Given the description of an element on the screen output the (x, y) to click on. 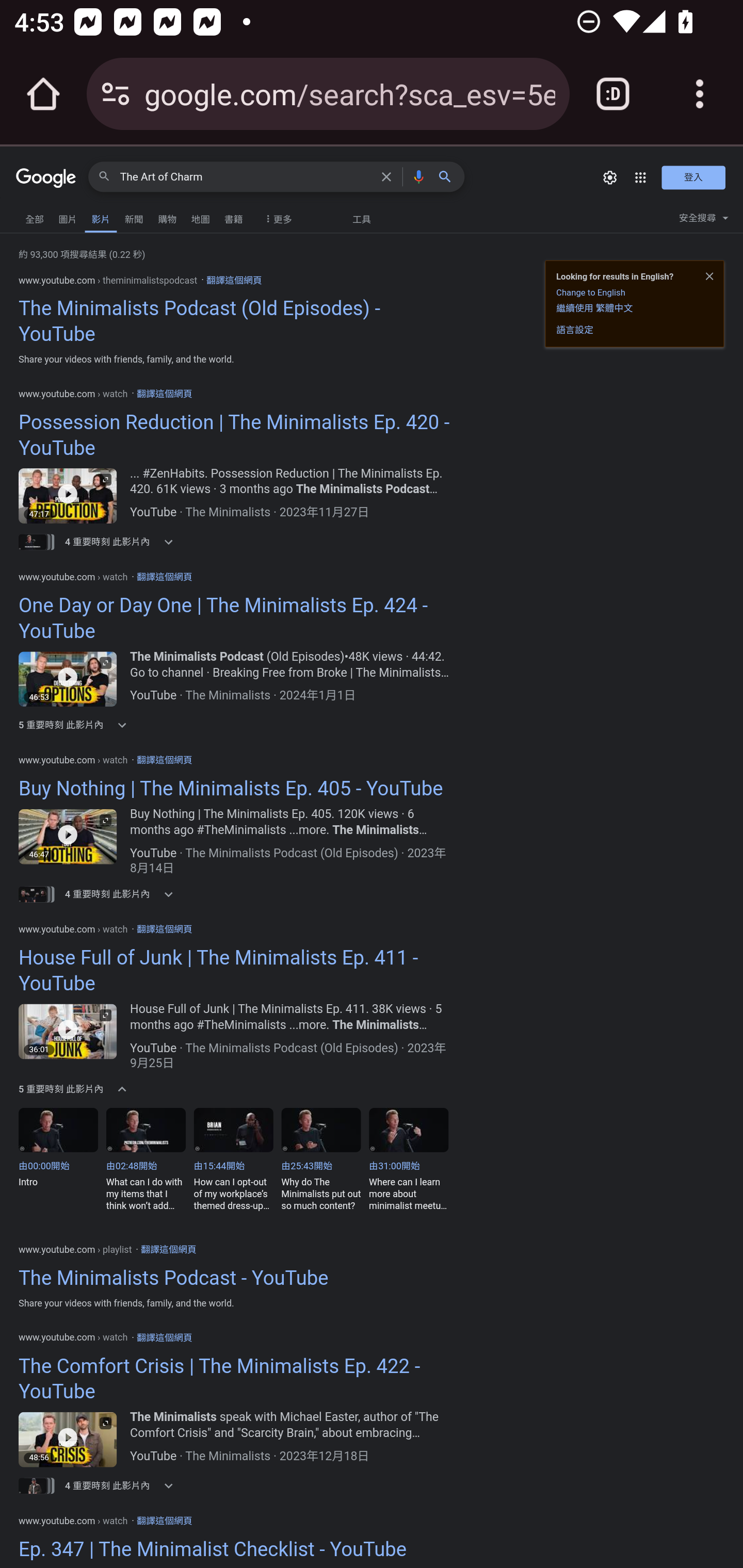
Open the home page (43, 93)
Connection is secure (115, 93)
Switch or close tabs (612, 93)
Customize and control Google Chrome (699, 93)
 清除 (389, 176)
語音搜尋 (418, 176)
Google 搜尋 (448, 176)
設定 (609, 177)
Google 應用程式 (640, 177)
登入 (693, 177)
Google (46, 179)
The Art of Charm (245, 177)
全部 (34, 217)
圖片 (67, 217)
影片 (100, 217)
新聞 (133, 217)
購物 (166, 217)
地圖 (200, 217)
書籍 (232, 217)
More Filters (275, 213)
安全搜尋 (703, 219)
工具 (361, 218)
翻譯這個網頁 (233, 279)
Change to English (590, 291)
繼續使用 繁體中文 繼續使用  繁體中文 (594, 307)
語言設定 (574, 329)
翻譯這個網頁 (164, 394)
4 重要時刻  此影片內 (124, 541)
翻譯這個網頁 (164, 576)
5 重要時刻  此影片內 (124, 724)
翻譯這個網頁 (164, 759)
4 重要時刻  此影片內 (124, 894)
翻譯這個網頁 (164, 928)
5 重要時刻  此影片內 (124, 1088)
Intro。第 1 項，共 5 項，0 秒。  (61, 1159)
翻譯這個網頁 (168, 1248)
翻譯這個網頁 (164, 1336)
4 重要時刻  此影片內 (124, 1485)
翻譯這個網頁 (164, 1520)
